Given the description of an element on the screen output the (x, y) to click on. 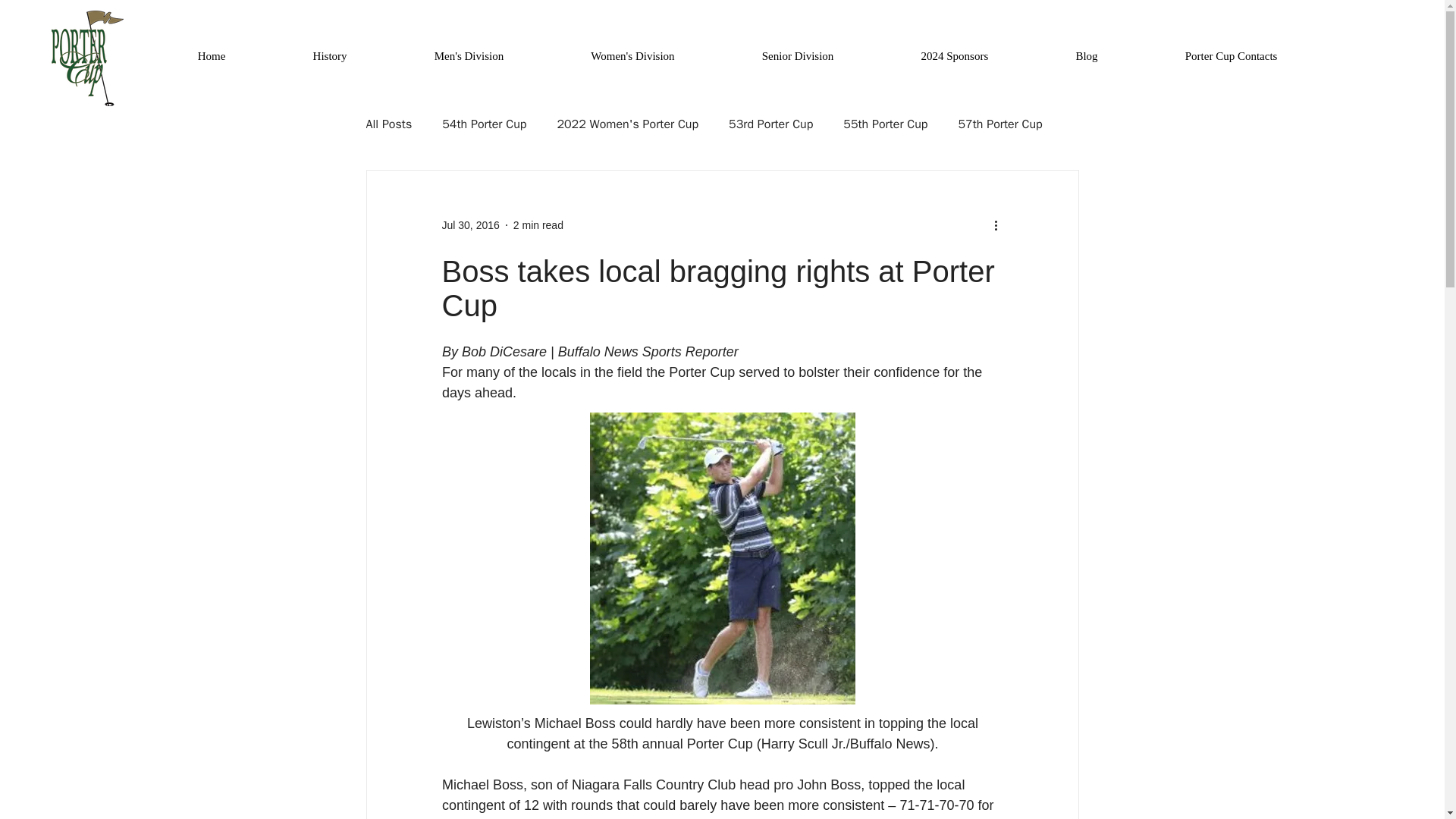
History (329, 56)
Porter Cup Contacts (1230, 56)
Blog (1086, 56)
Senior Division (797, 56)
2 min read (538, 224)
Jul 30, 2016 (470, 224)
Women's Division (632, 56)
2022 Women's Porter Cup (627, 124)
55th Porter Cup (885, 124)
All Posts (388, 124)
2024 Sponsors (954, 56)
Home (211, 56)
54th Porter Cup (483, 124)
57th Porter Cup (1000, 124)
Men's Division (468, 56)
